Given the description of an element on the screen output the (x, y) to click on. 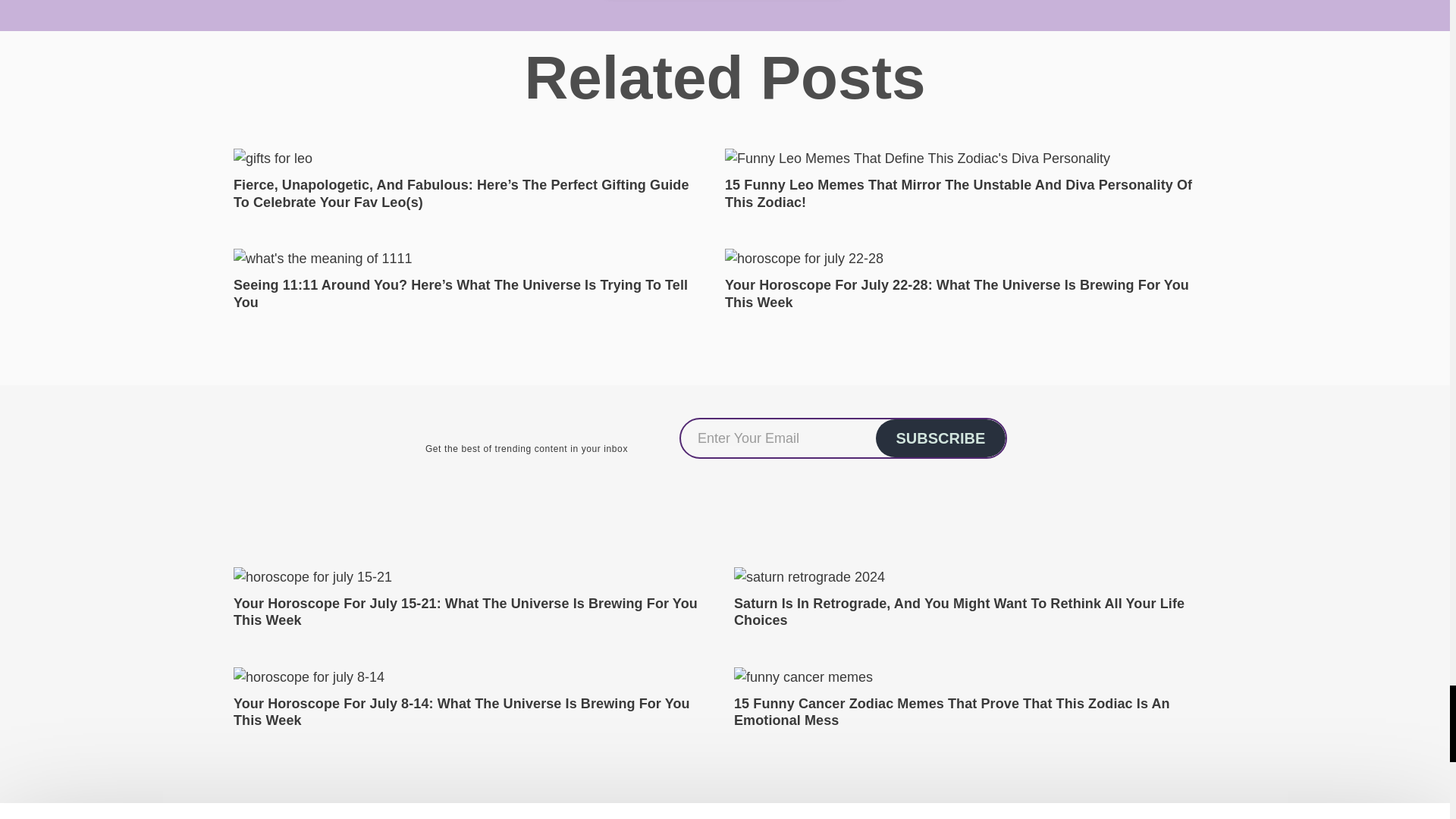
Subscribe (941, 438)
